Given the description of an element on the screen output the (x, y) to click on. 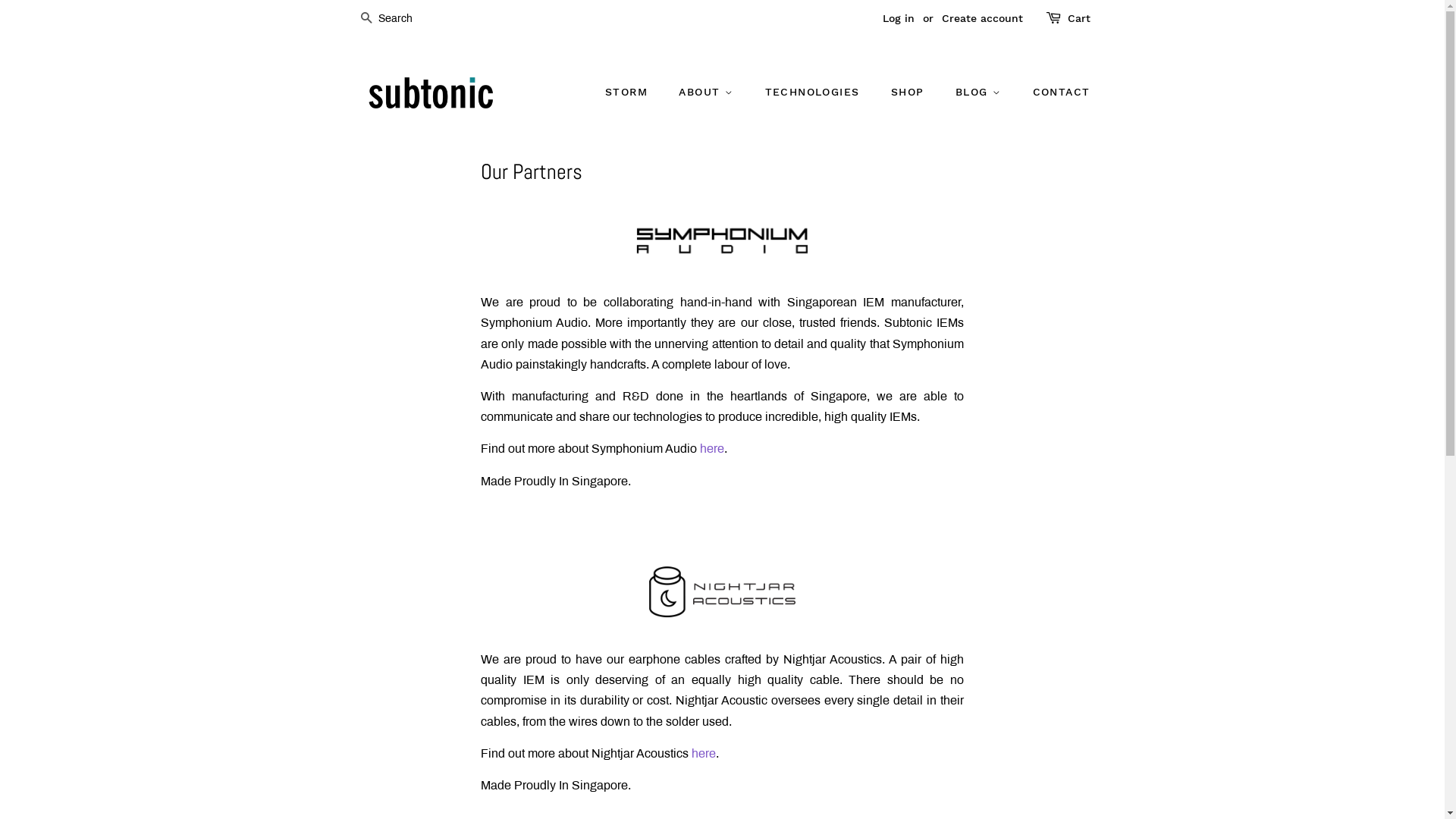
here Element type: text (711, 448)
SEARCH Element type: text (366, 18)
SHOP Element type: text (909, 92)
here Element type: text (703, 752)
BLOG Element type: text (980, 92)
Cart Element type: text (1078, 18)
CONTACT Element type: text (1055, 92)
TECHNOLOGIES Element type: text (814, 92)
STORM Element type: text (633, 92)
Log in Element type: text (898, 18)
ABOUT Element type: text (707, 92)
Create account Element type: text (981, 18)
